Given the description of an element on the screen output the (x, y) to click on. 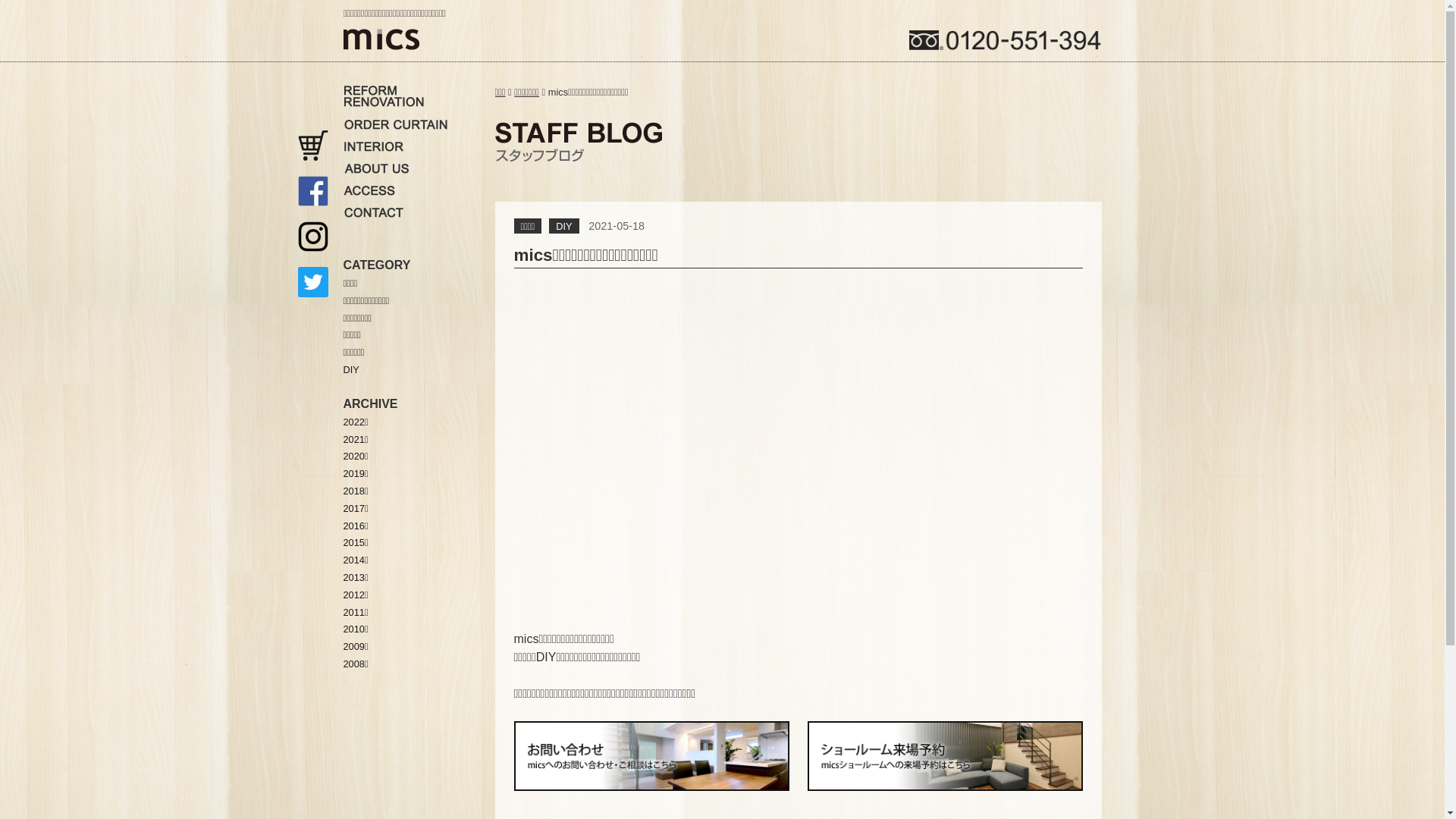
DIY Element type: text (350, 369)
DIY Element type: text (563, 225)
YouTube video player Element type: hover (798, 443)
Instagram Element type: text (312, 236)
Twitter Element type: text (312, 281)
Facebook Element type: text (312, 190)
Web Shop Element type: text (312, 145)
